Given the description of an element on the screen output the (x, y) to click on. 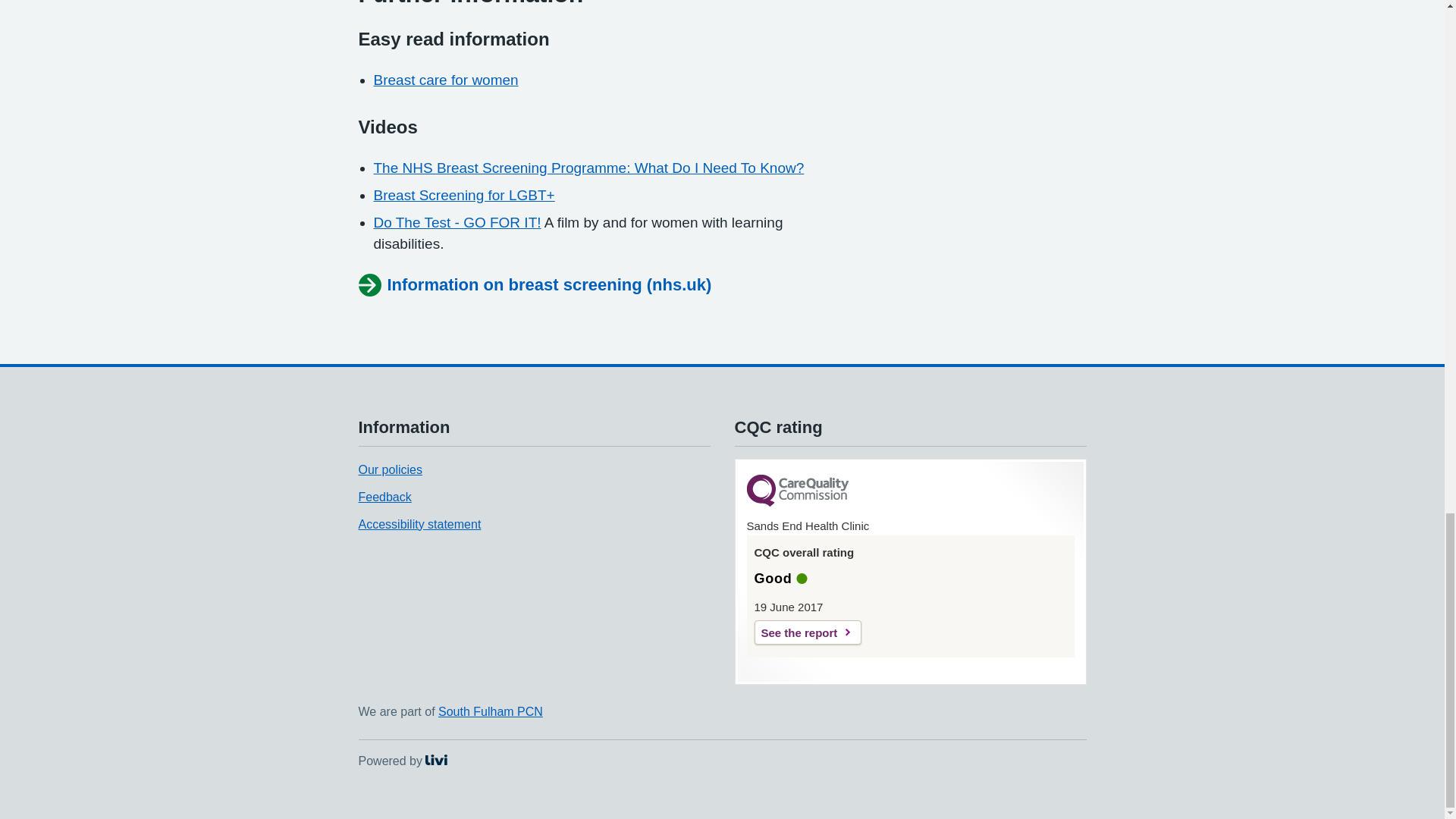
Feedback (384, 496)
CQC Logo (796, 491)
Do The Test - GO FOR IT! (402, 760)
South Fulham PCN (456, 222)
Accessibility statement (490, 711)
Breast care for women (419, 523)
See the report (445, 79)
The NHS Breast Screening Programme: What Do I Need To Know? (807, 631)
Our policies (587, 167)
